Given the description of an element on the screen output the (x, y) to click on. 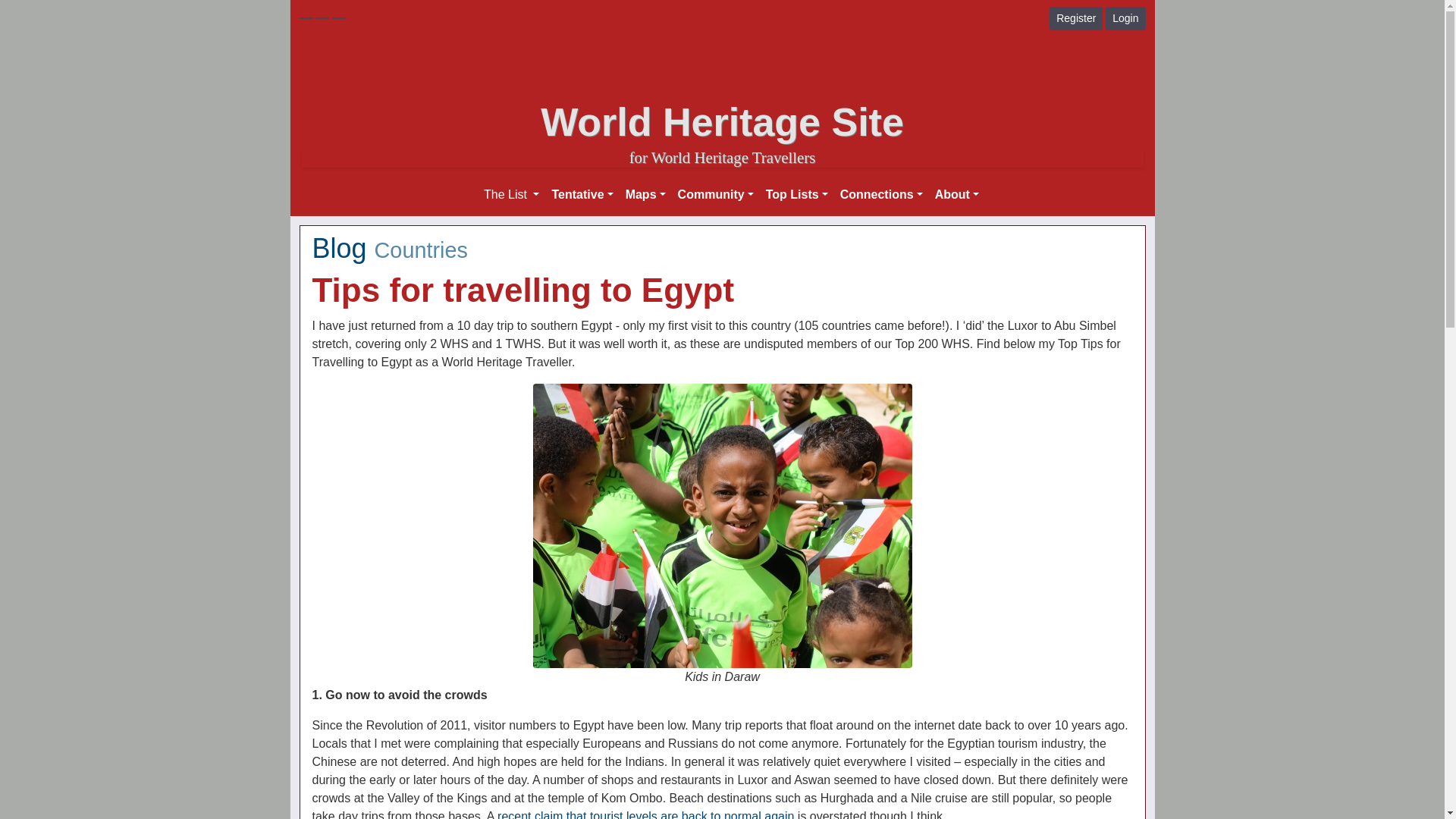
Community (715, 194)
Maps (645, 194)
Tentative (581, 194)
Register (1075, 18)
Login (1124, 18)
The List (510, 194)
